Given the description of an element on the screen output the (x, y) to click on. 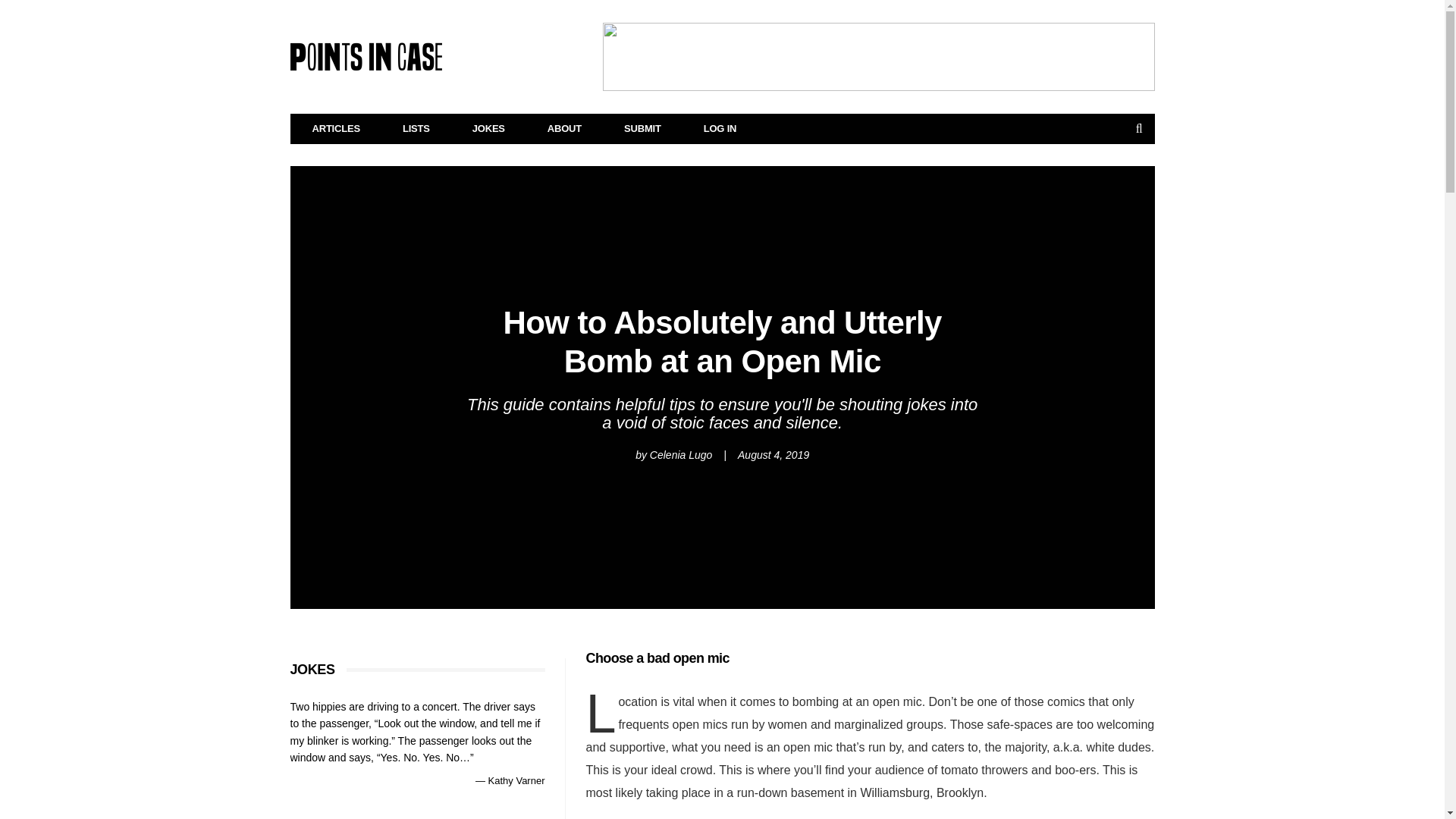
Kathy Varner (515, 780)
LISTS (416, 128)
Celenia Lugo (681, 454)
SUBMIT (642, 128)
JOKES (488, 128)
ARTICLES (336, 128)
ABOUT (563, 128)
LOG IN (720, 128)
Posts by Celenia Lugo (681, 454)
